Given the description of an element on the screen output the (x, y) to click on. 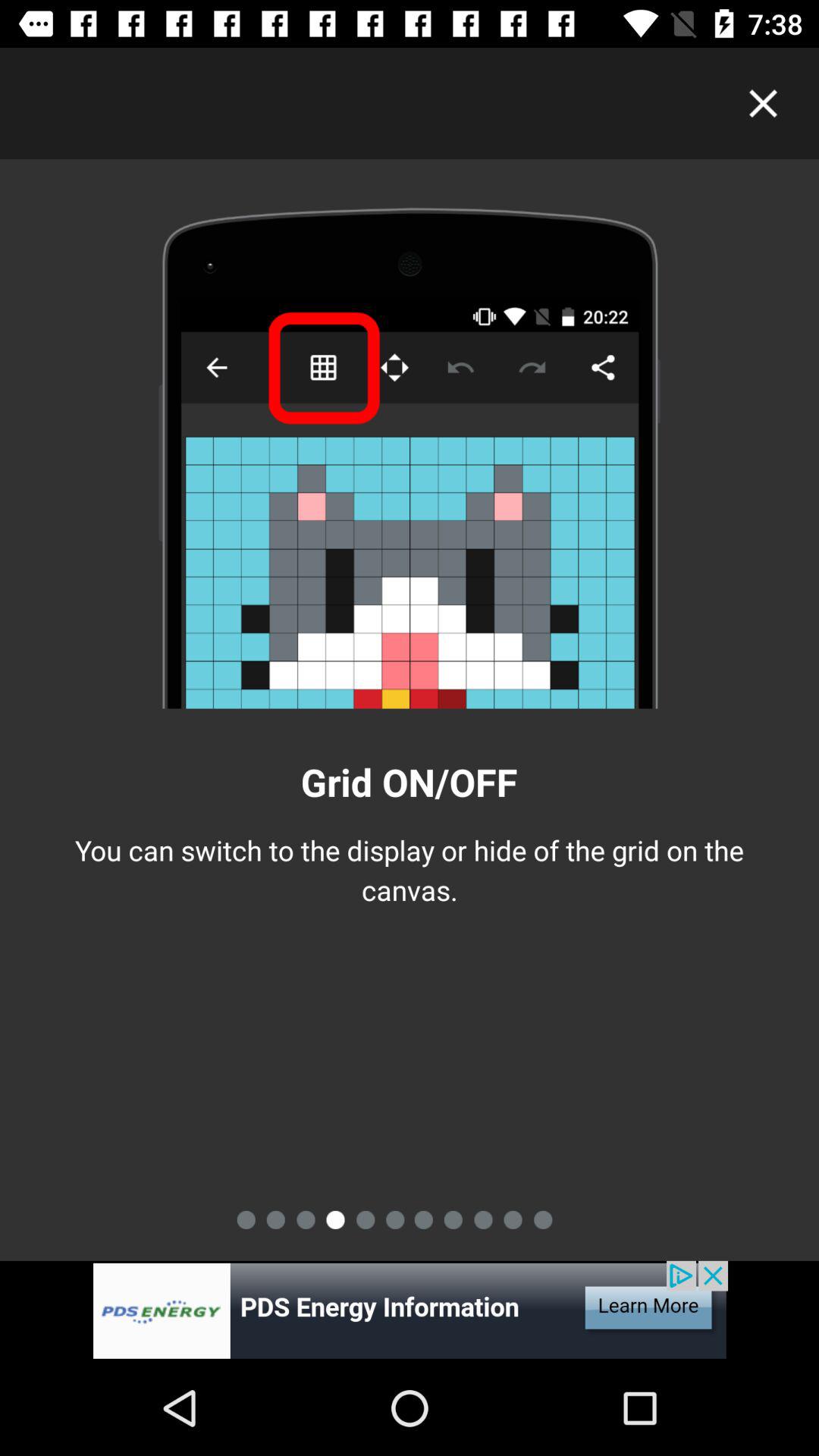
advertisement space (409, 1310)
